Given the description of an element on the screen output the (x, y) to click on. 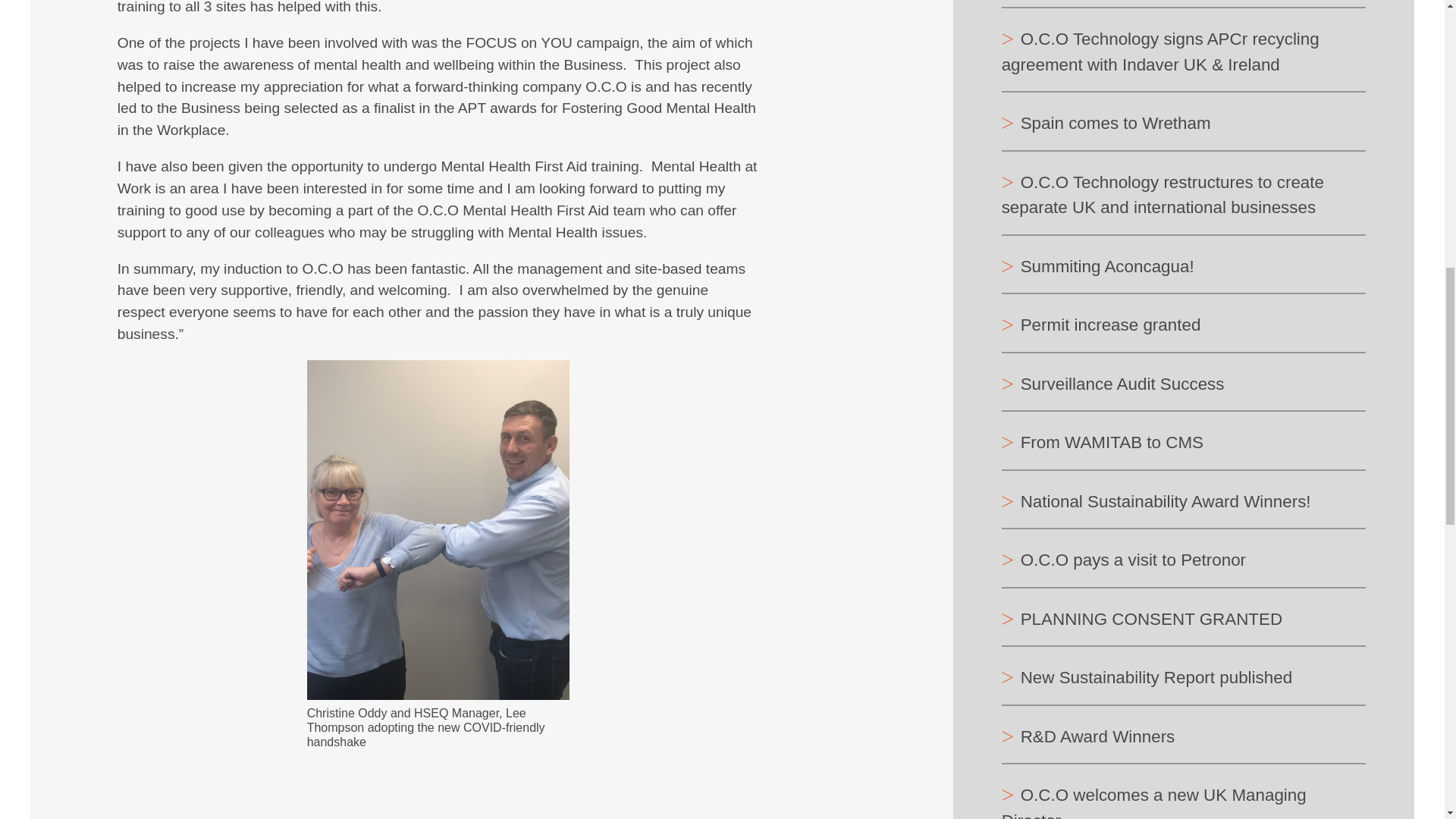
Permit increase granted (1101, 326)
Summiting Aconcagua! (1097, 267)
Spain comes to Wretham (1106, 124)
From WAMITAB to CMS (1102, 443)
New Sustainability Report published (1146, 678)
National Sustainability Award Winners! (1156, 502)
Surveillance Audit Success (1112, 385)
O.C.O pays a visit to Petronor (1123, 561)
